Given the description of an element on the screen output the (x, y) to click on. 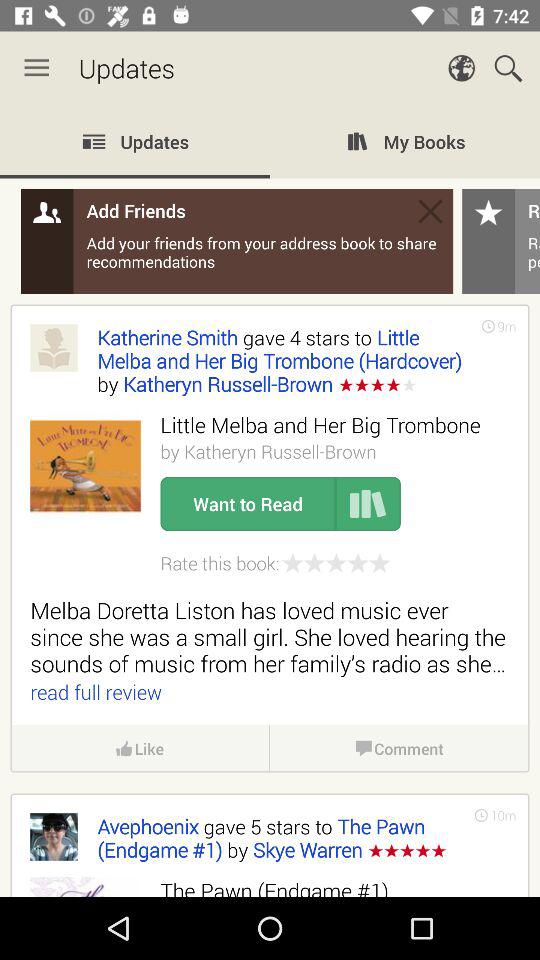
select the item next to the updates item (36, 68)
